Given the description of an element on the screen output the (x, y) to click on. 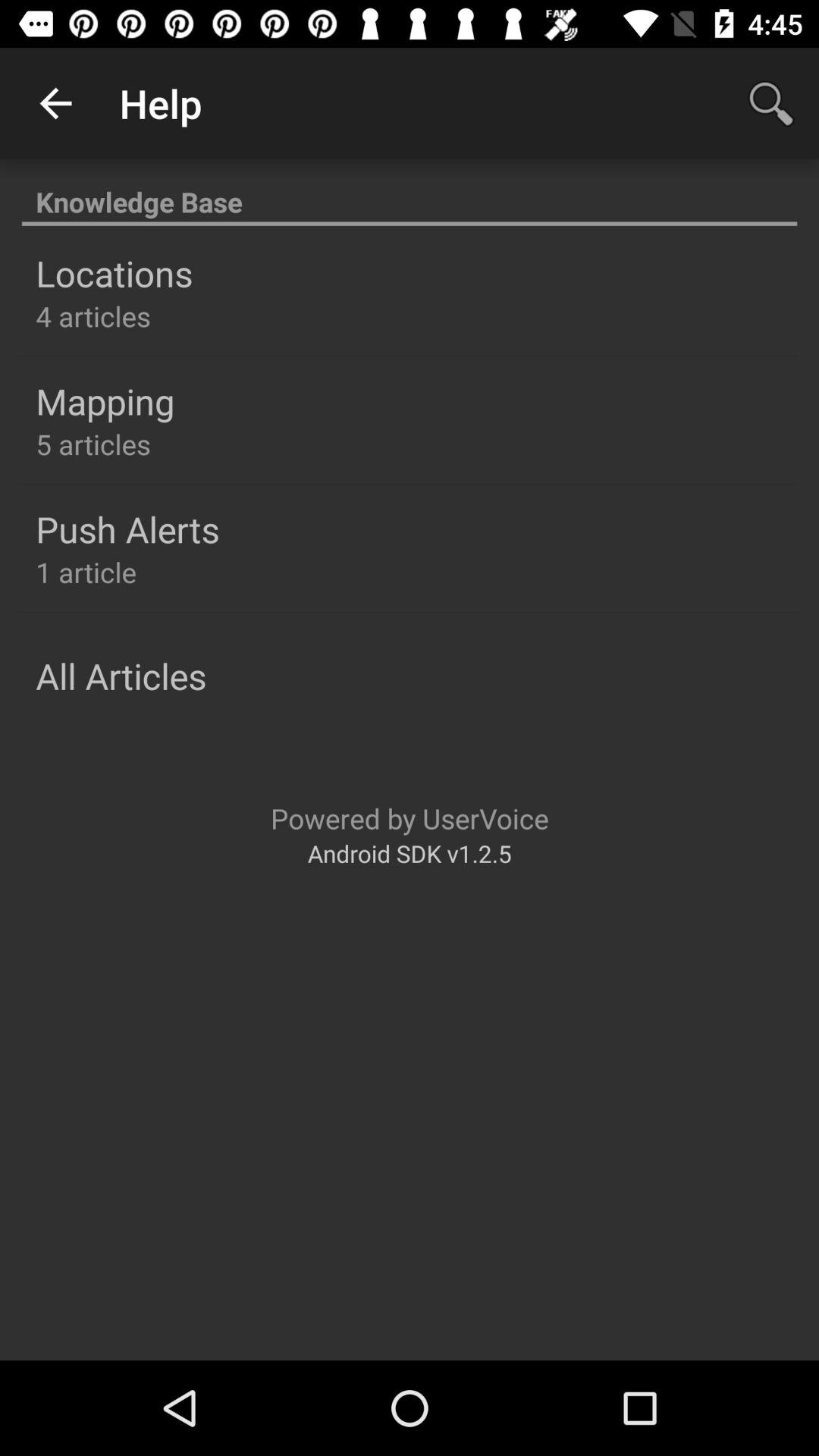
choose the item above powered by uservoice (120, 675)
